Given the description of an element on the screen output the (x, y) to click on. 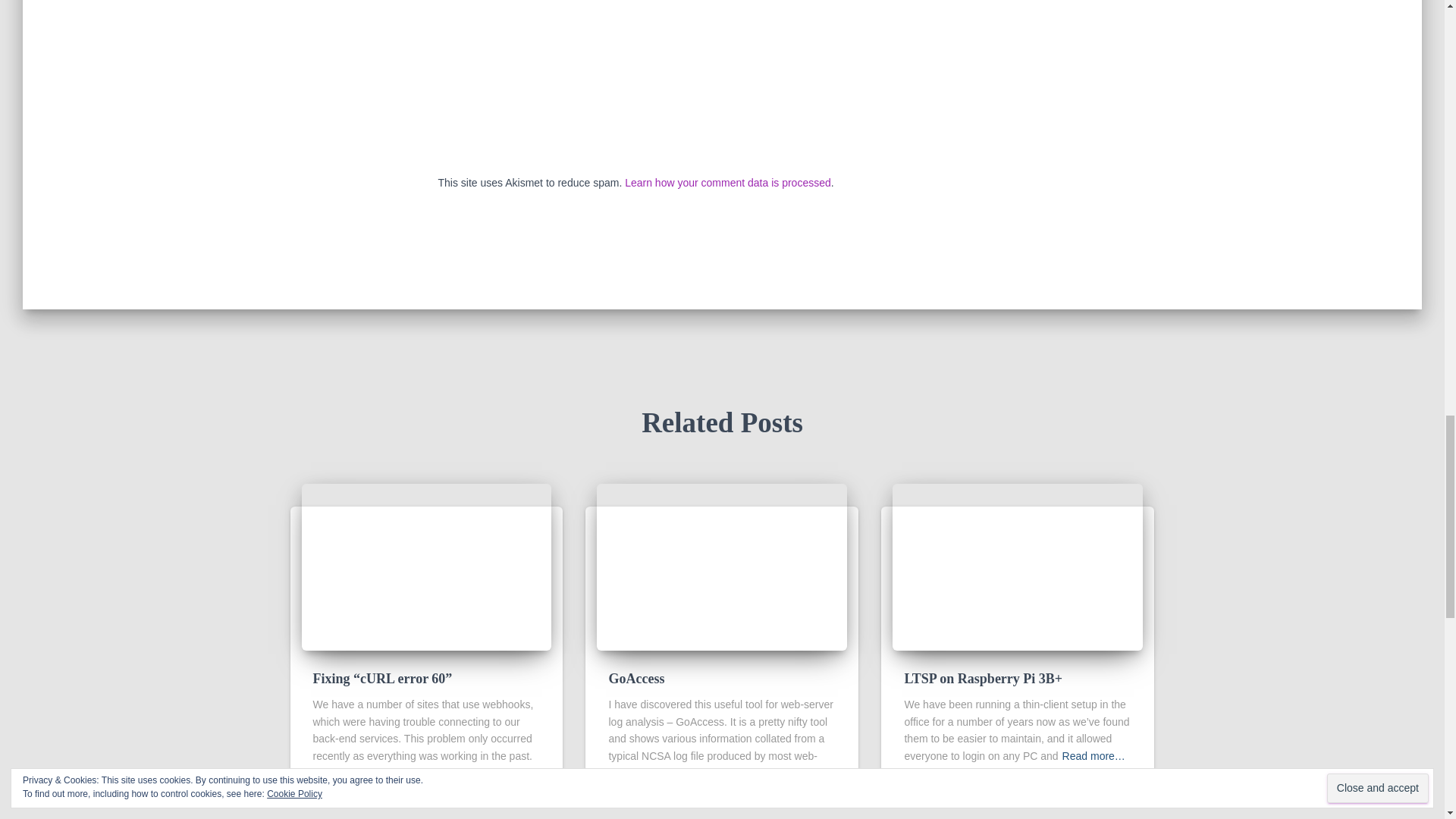
Comment Form (722, 84)
GoAccess (635, 678)
Learn how your comment data is processed (727, 182)
GoAccess (721, 565)
